Given the description of an element on the screen output the (x, y) to click on. 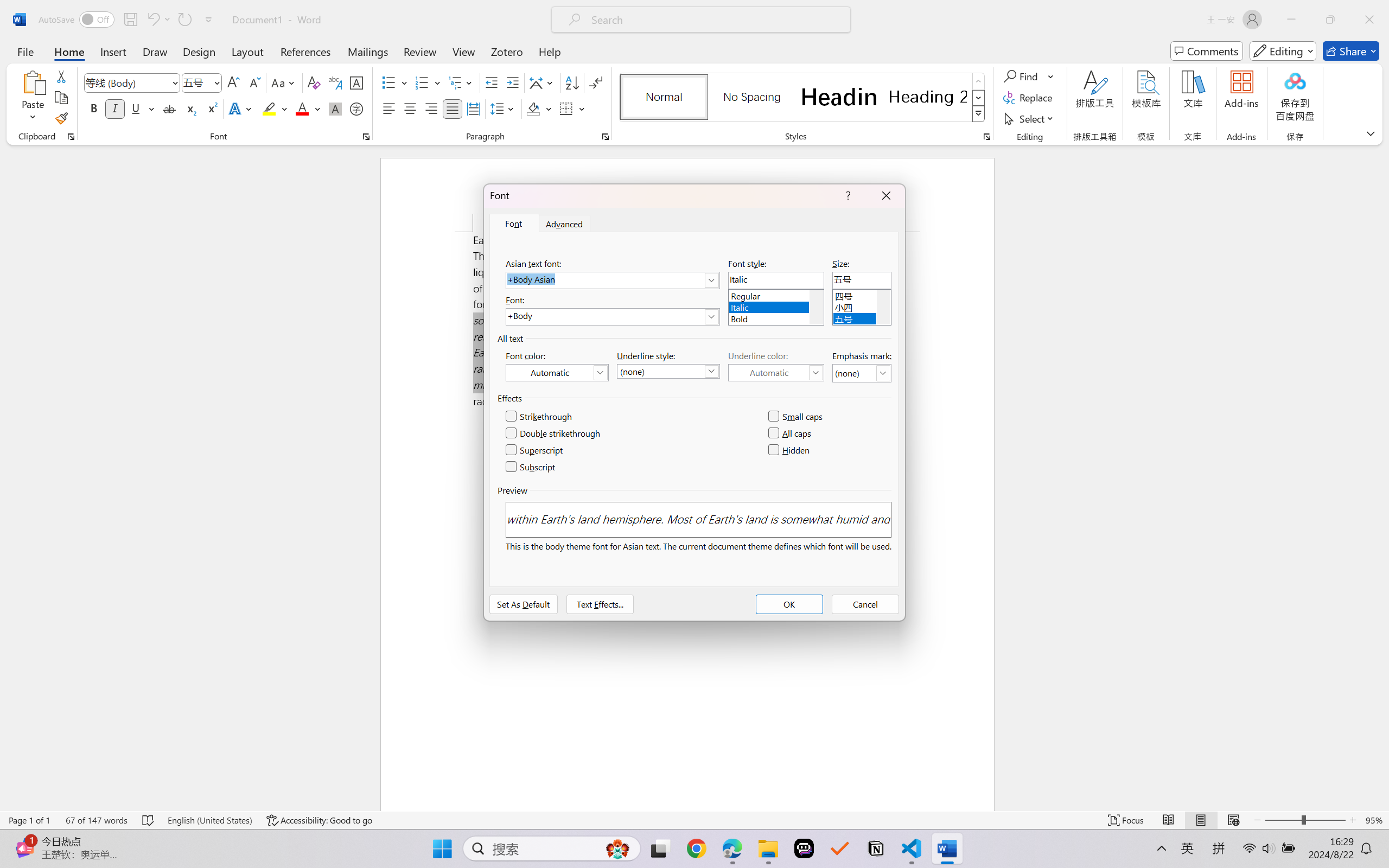
Small caps (796, 416)
Italic (775, 305)
Undo Italic (158, 19)
Class: NetUIScrollBar (1382, 477)
Cancel (865, 603)
AutomationID: 1797 (883, 306)
Shading (539, 108)
Zoom 95% (1374, 819)
